Given the description of an element on the screen output the (x, y) to click on. 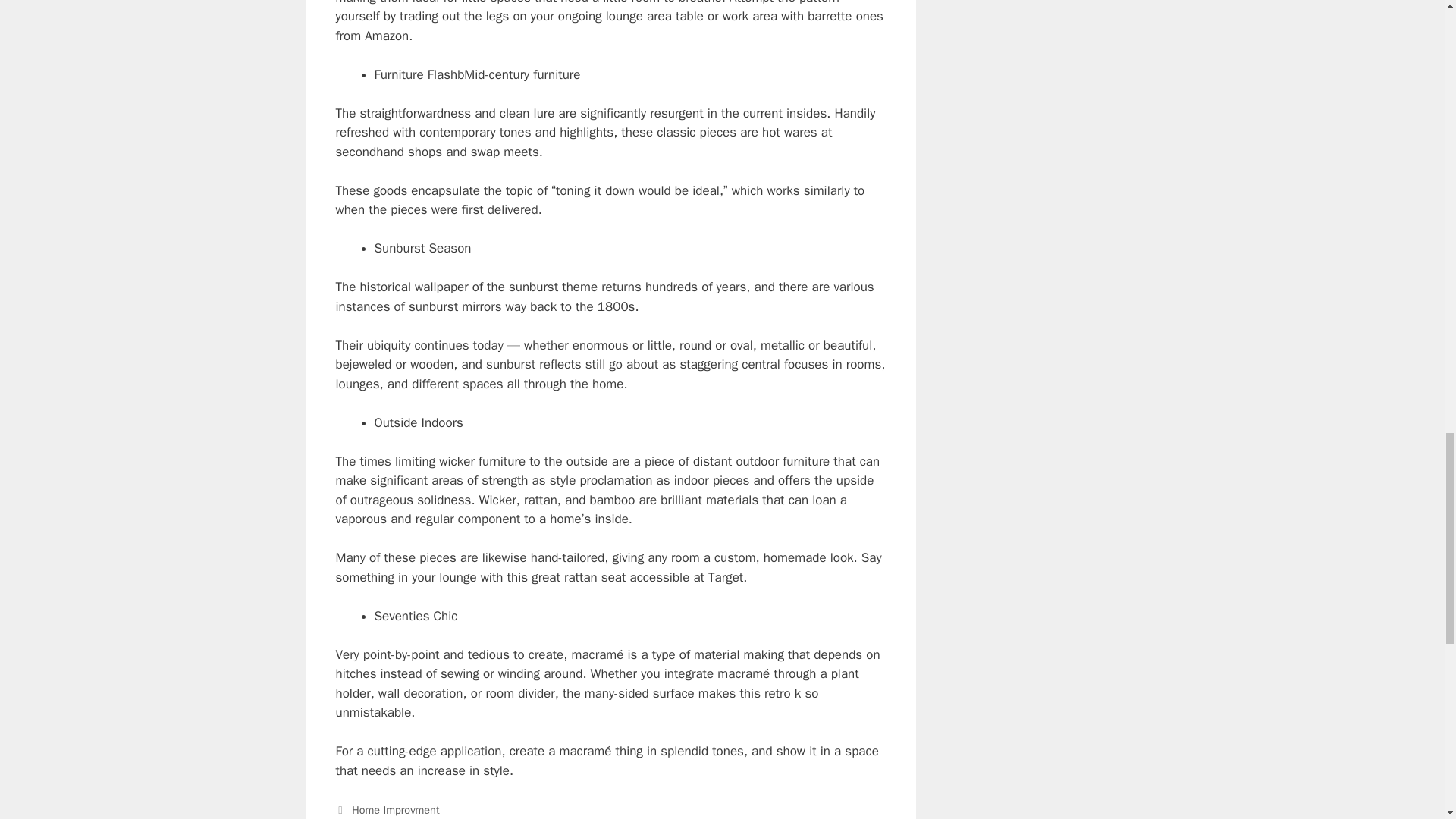
Home Improvment (395, 809)
